Given the description of an element on the screen output the (x, y) to click on. 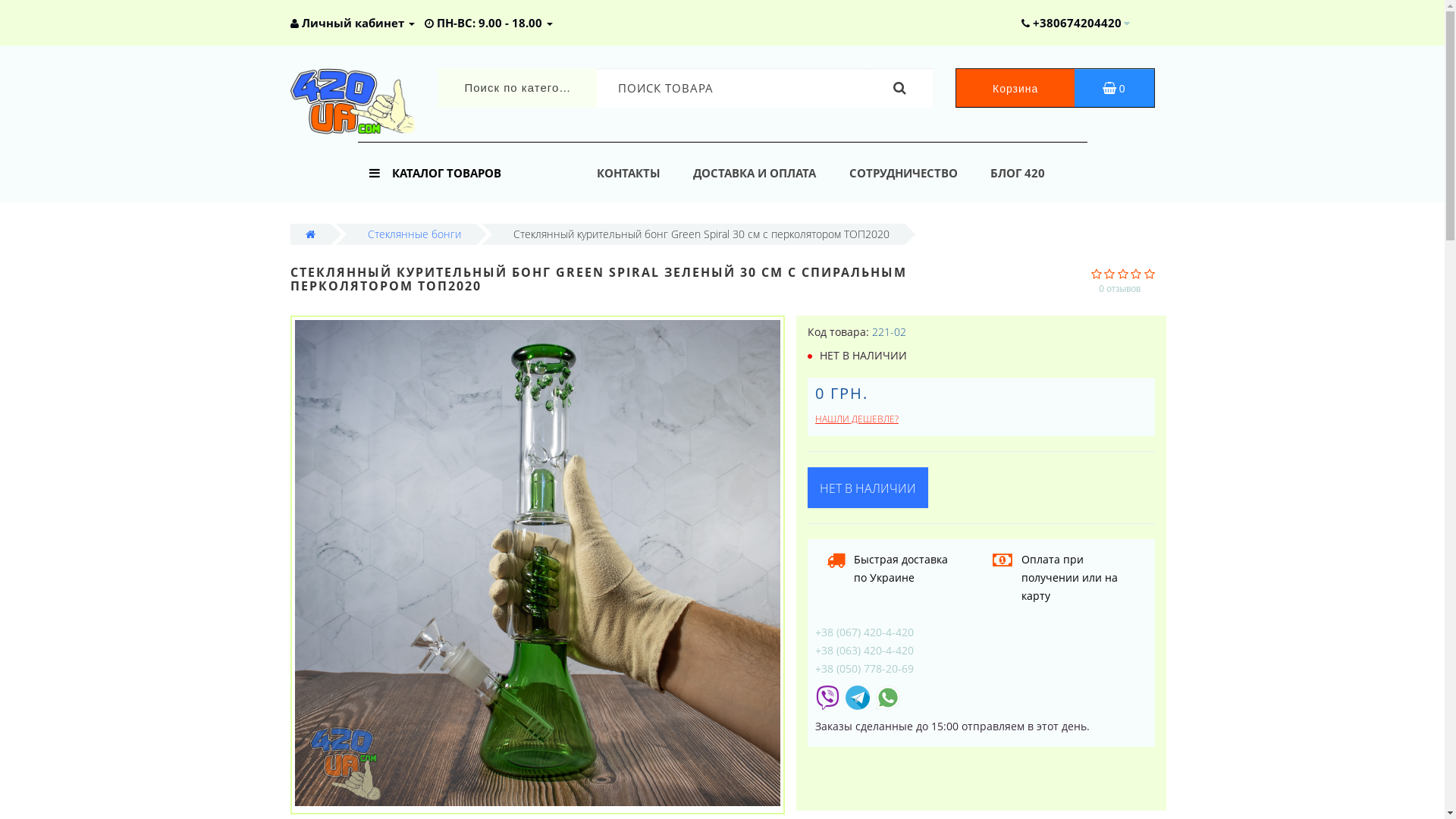
+38 (050) 778-20-69 Element type: text (864, 668)
+38 (063) 420-4-420 Element type: text (864, 650)
+38 (067) 420-4-420 Element type: text (864, 631)
Viber Element type: hover (827, 696)
+380674204420 Element type: text (1070, 22)
420UA.com Element type: hover (351, 101)
